Given the description of an element on the screen output the (x, y) to click on. 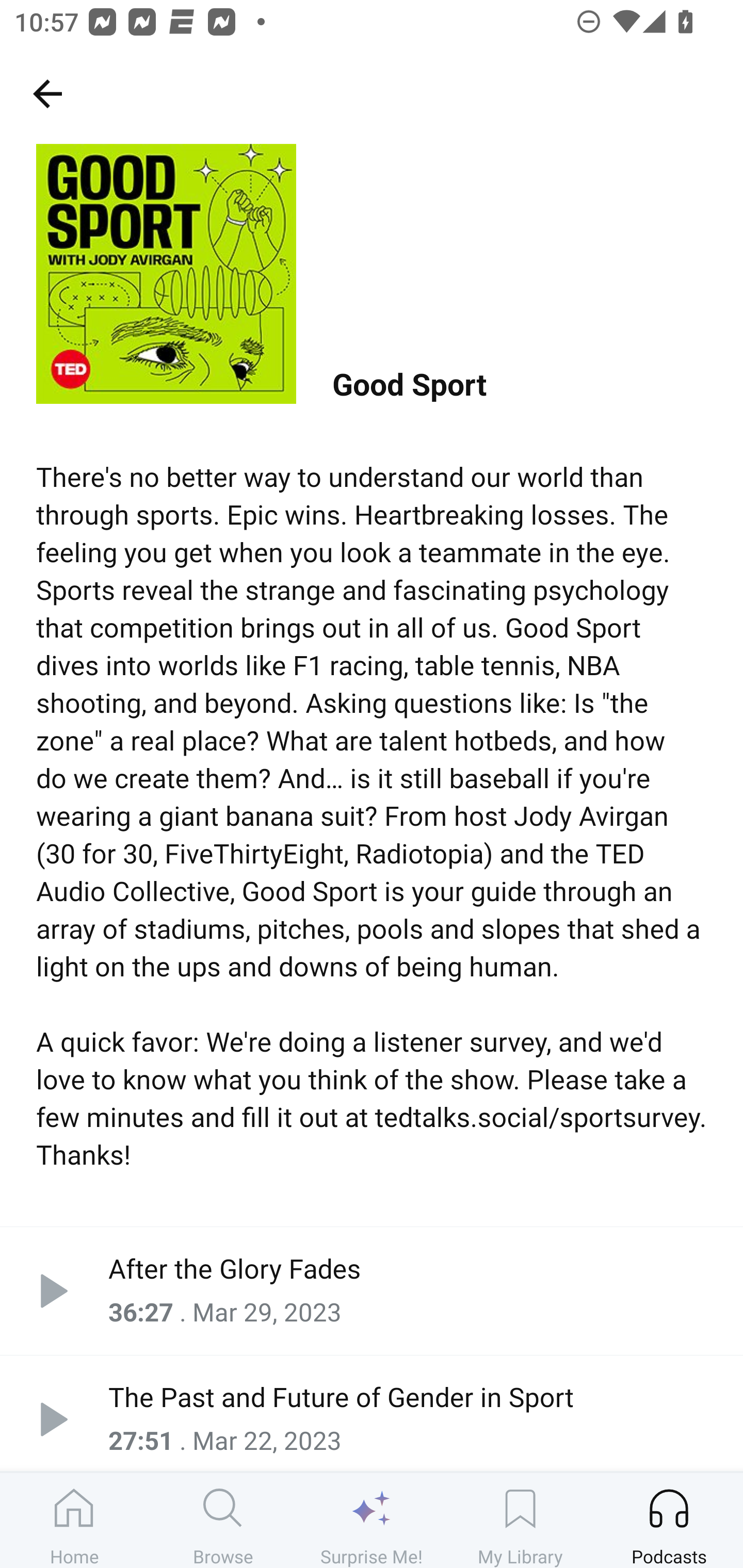
TED Podcasts, back (47, 92)
After the Glory Fades 36:27 . Mar 29, 2023 (371, 1290)
Home (74, 1520)
Browse (222, 1520)
Surprise Me! (371, 1520)
My Library (519, 1520)
Podcasts (668, 1520)
